Given the description of an element on the screen output the (x, y) to click on. 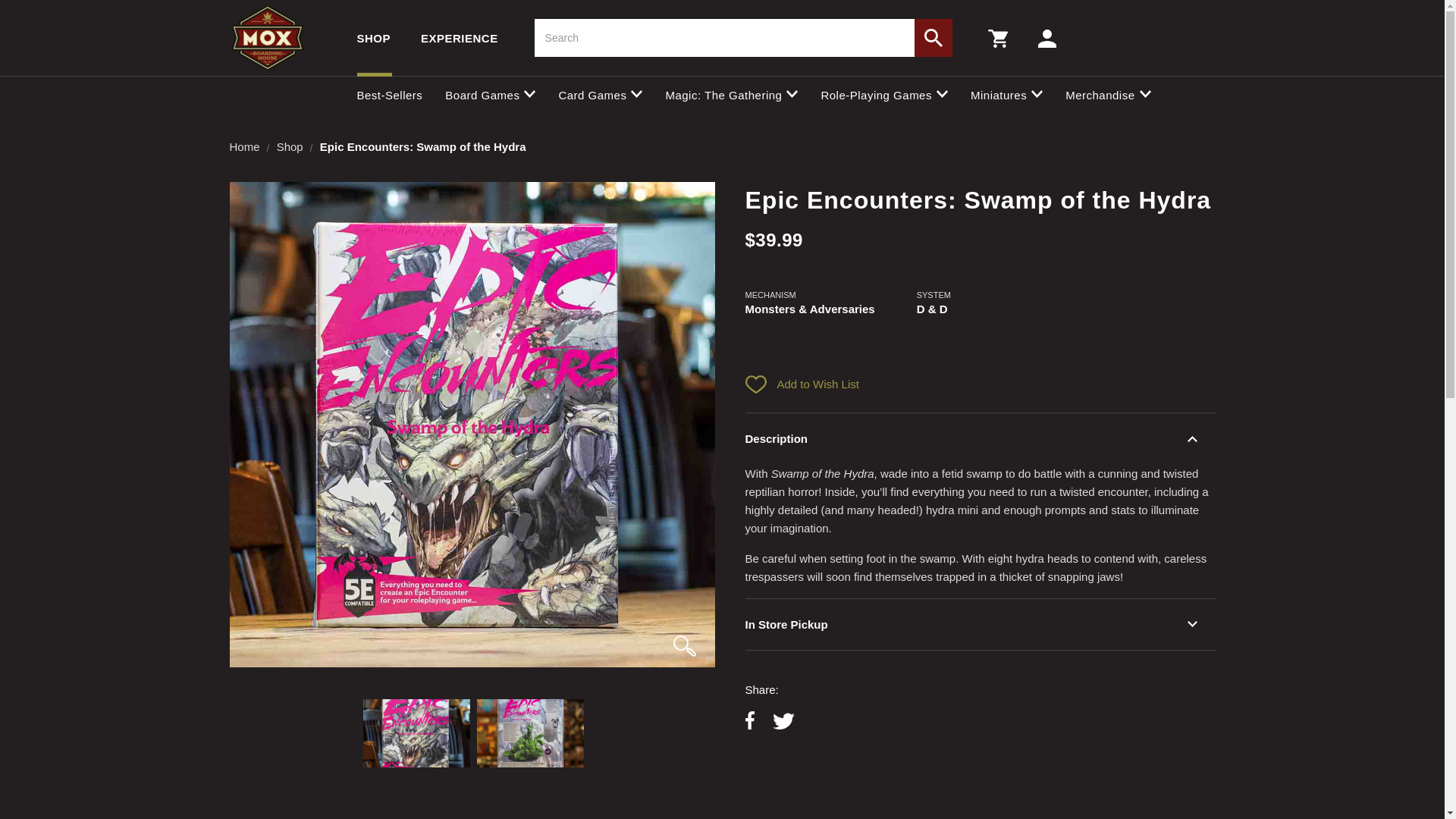
Board Games (490, 94)
Card Games (599, 94)
Epic Encounters: Swamp of the Hydra (415, 733)
SHOP (373, 37)
Miniatures (1006, 94)
Twitter (782, 721)
Magic: The Gathering (731, 94)
Epic Encounters: Swamp of the Hydra (530, 733)
Help widget launcher (75, 781)
Mox Boarding House (266, 38)
Best-Sellers (389, 94)
Role-Playing Games (884, 94)
